Given the description of an element on the screen output the (x, y) to click on. 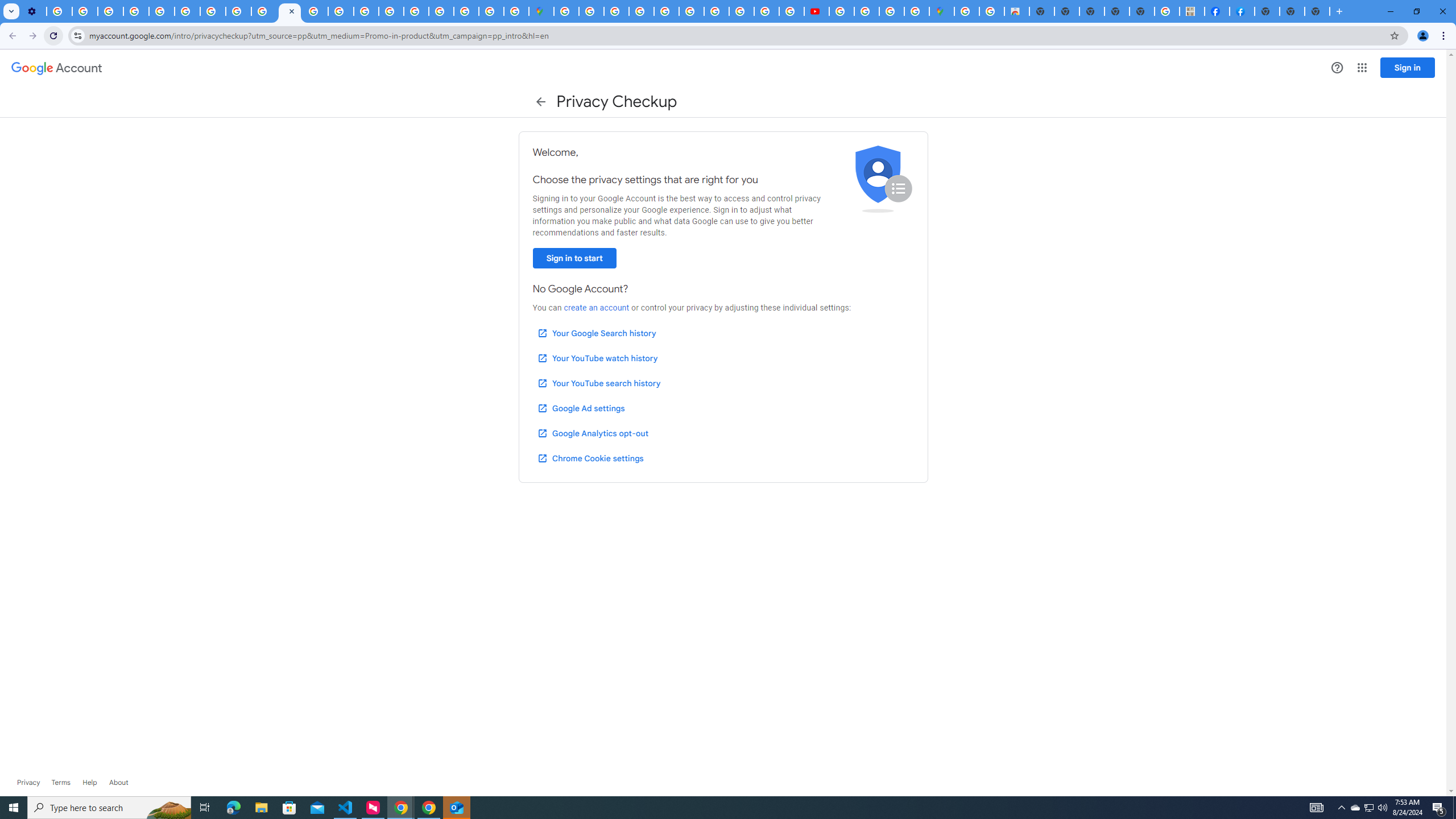
Settings - Customize profile (34, 11)
Google Account settings (56, 68)
Terms and Conditions (691, 11)
Privacy Help Center - Policies Help (766, 11)
Sign in - Google Accounts (565, 11)
New Tab (1317, 11)
Blogger Policies and Guidelines - Transparency Center (715, 11)
Google Analytics opt-out (592, 433)
Learn more about Google Account (118, 782)
